Given the description of an element on the screen output the (x, y) to click on. 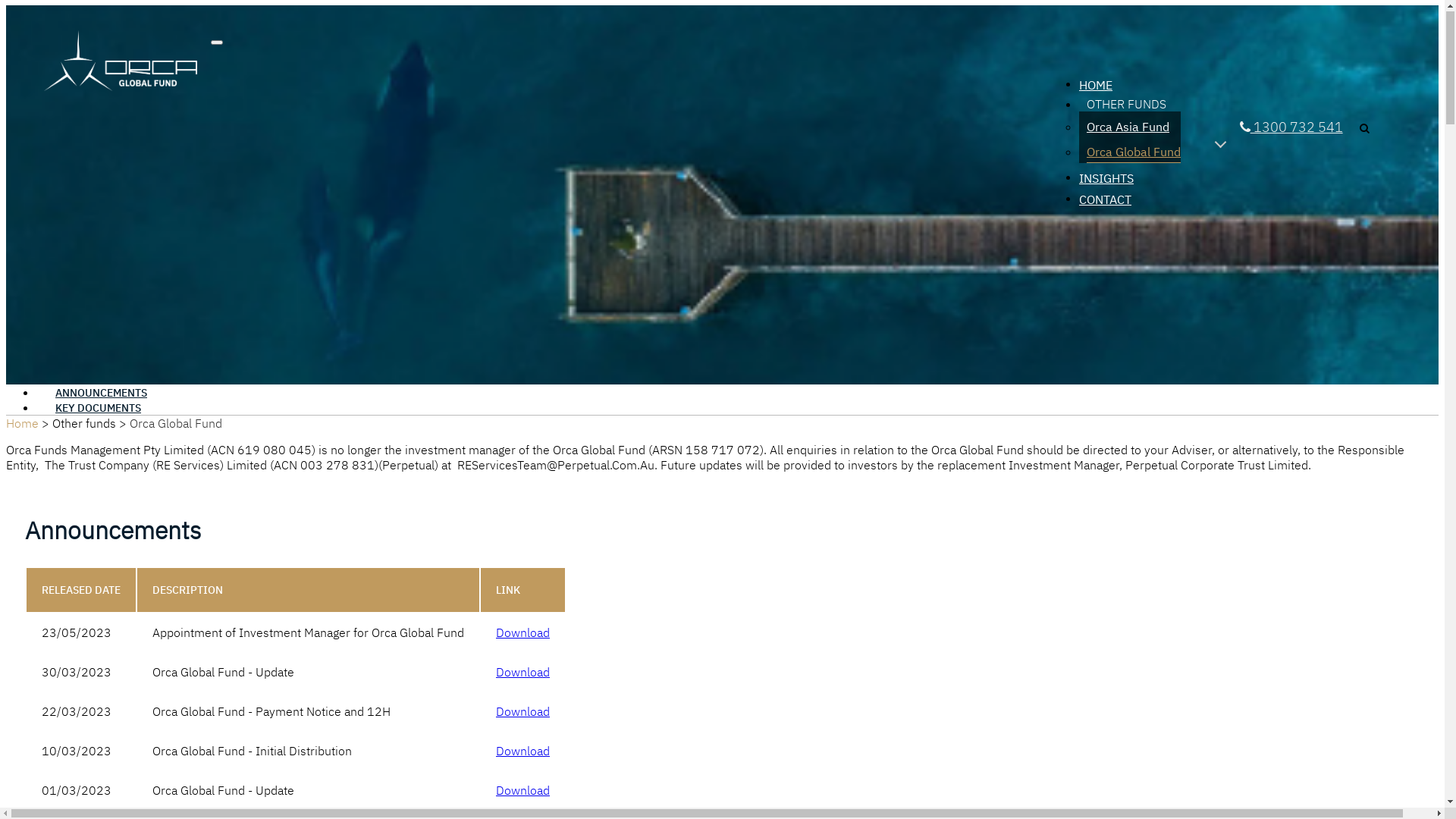
Orca Asia Fund Element type: text (1124, 128)
GO Element type: text (1268, 209)
INSIGHTS Element type: text (1129, 181)
Home Element type: text (22, 423)
Download Element type: text (522, 751)
Home Element type: hover (126, 61)
Download Element type: text (522, 632)
Orca Global Fund Element type: text (1129, 153)
ANNOUNCEMENTS Element type: text (101, 393)
Download Element type: text (522, 790)
Download Element type: text (522, 711)
Download Element type: text (522, 672)
CONTACT Element type: text (1129, 202)
1300 732 541 Element type: text (1291, 127)
KEY DOCUMENTS Element type: text (98, 408)
HOME Element type: text (1129, 87)
Toggle navigation Element type: text (216, 42)
